Given the description of an element on the screen output the (x, y) to click on. 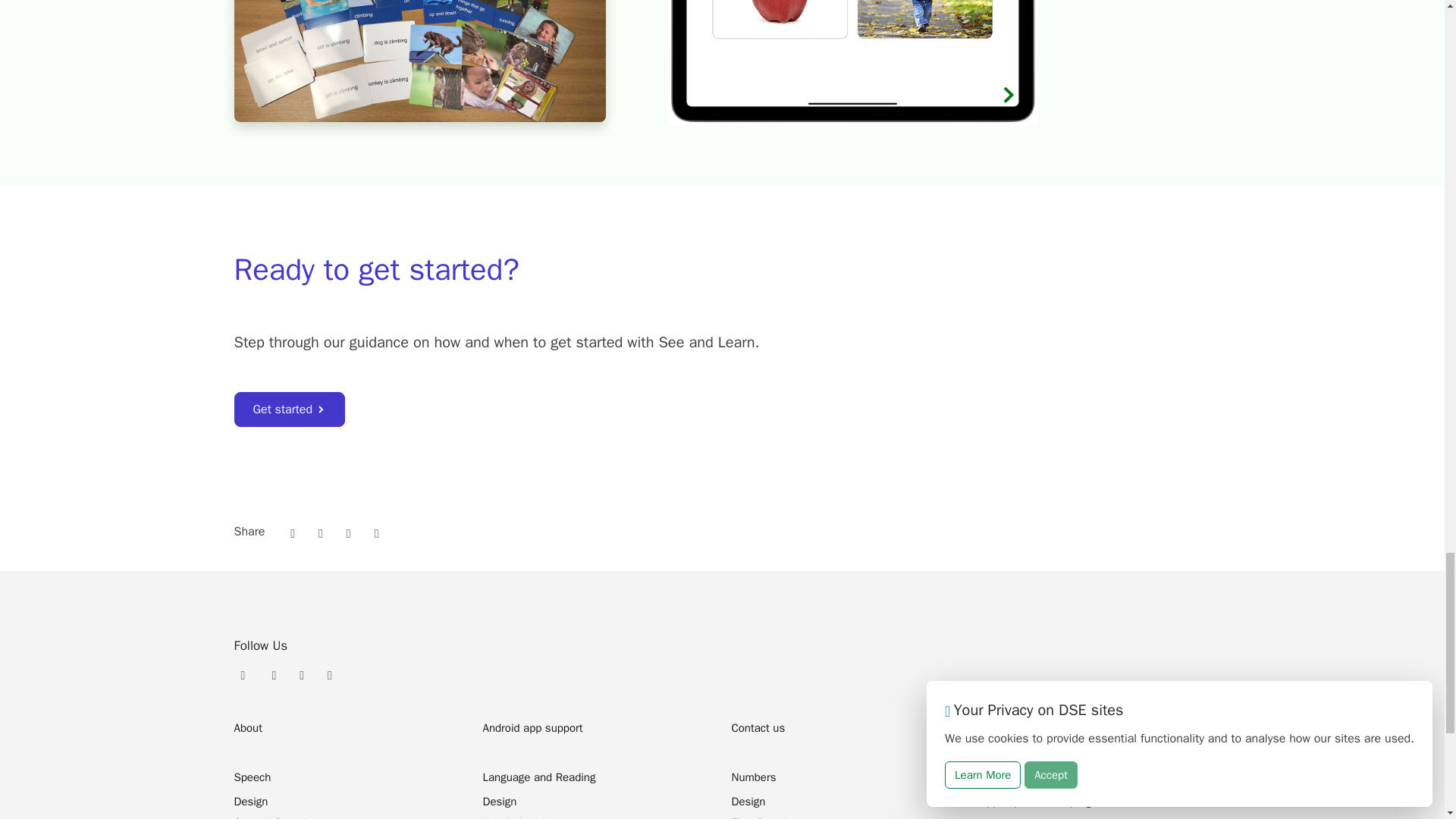
Follow us on Twitter (273, 673)
Android app support (531, 727)
About (247, 727)
Follow us on LinkedIn (329, 673)
Follow us on Facebook (301, 673)
Get started (288, 409)
Contact us (757, 727)
Share on Twitter (320, 532)
Sign up for emails (244, 673)
Share on LinkedIn (376, 532)
Share on Facebook (348, 532)
Share via email (292, 532)
